Given the description of an element on the screen output the (x, y) to click on. 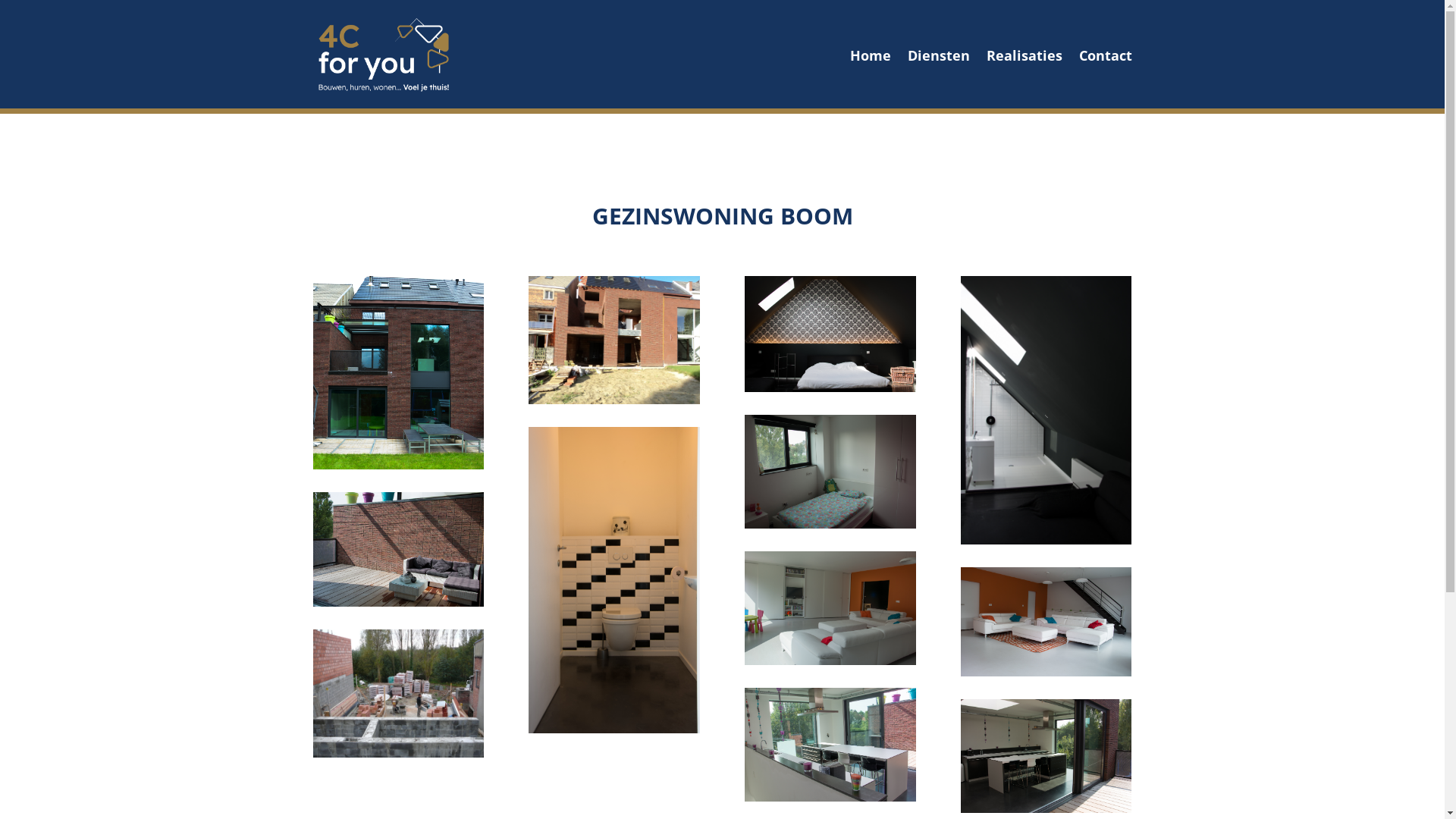
Contact Element type: text (1104, 55)
Realisaties Element type: text (1023, 55)
Diensten Element type: text (937, 55)
Home Element type: text (869, 55)
